Given the description of an element on the screen output the (x, y) to click on. 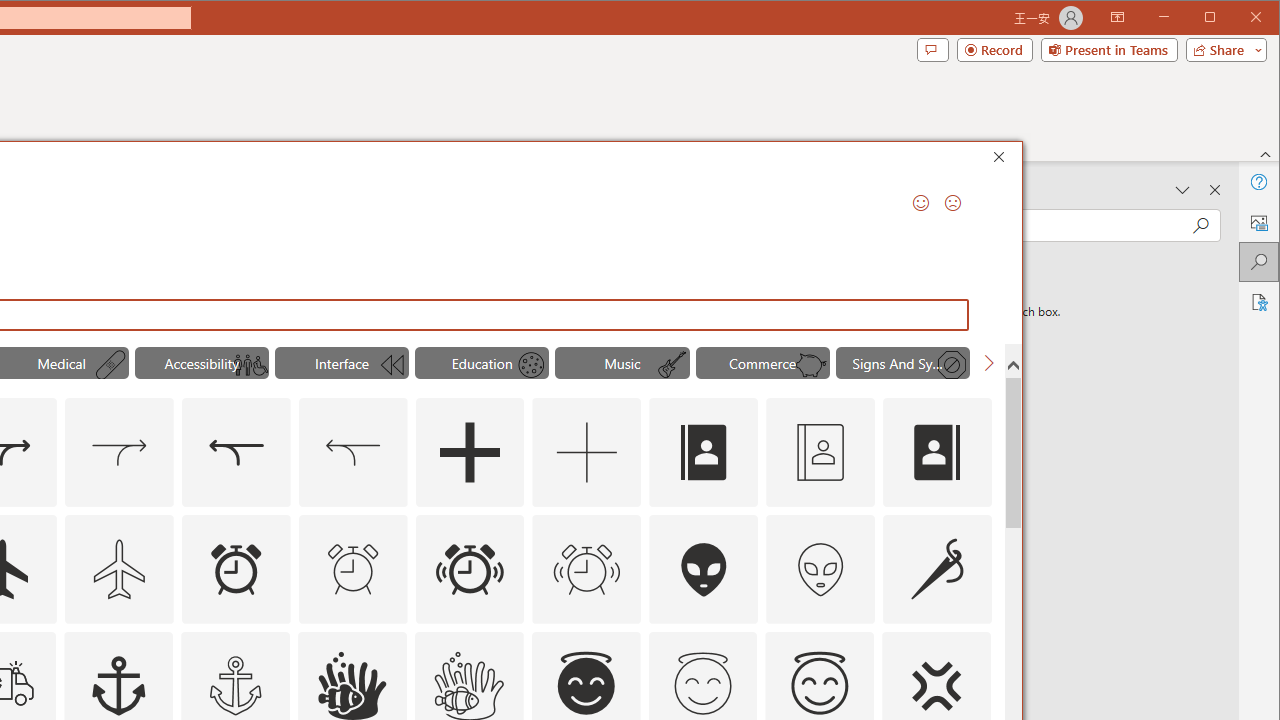
"Signs And Symbols" Icons. (902, 362)
AutomationID: Icons_AdhesiveBandage_M (111, 365)
AutomationID: Icons_StopSign_M (952, 365)
AutomationID: Icons_Add_M (586, 452)
AutomationID: Icons_Beginning_M (390, 365)
AutomationID: Icons_AlienFace (703, 568)
Thumbnail (975, 646)
AutomationID: Icons_AddressBook_LTR_M (820, 452)
"Interface" Icons. (342, 362)
